Given the description of an element on the screen output the (x, y) to click on. 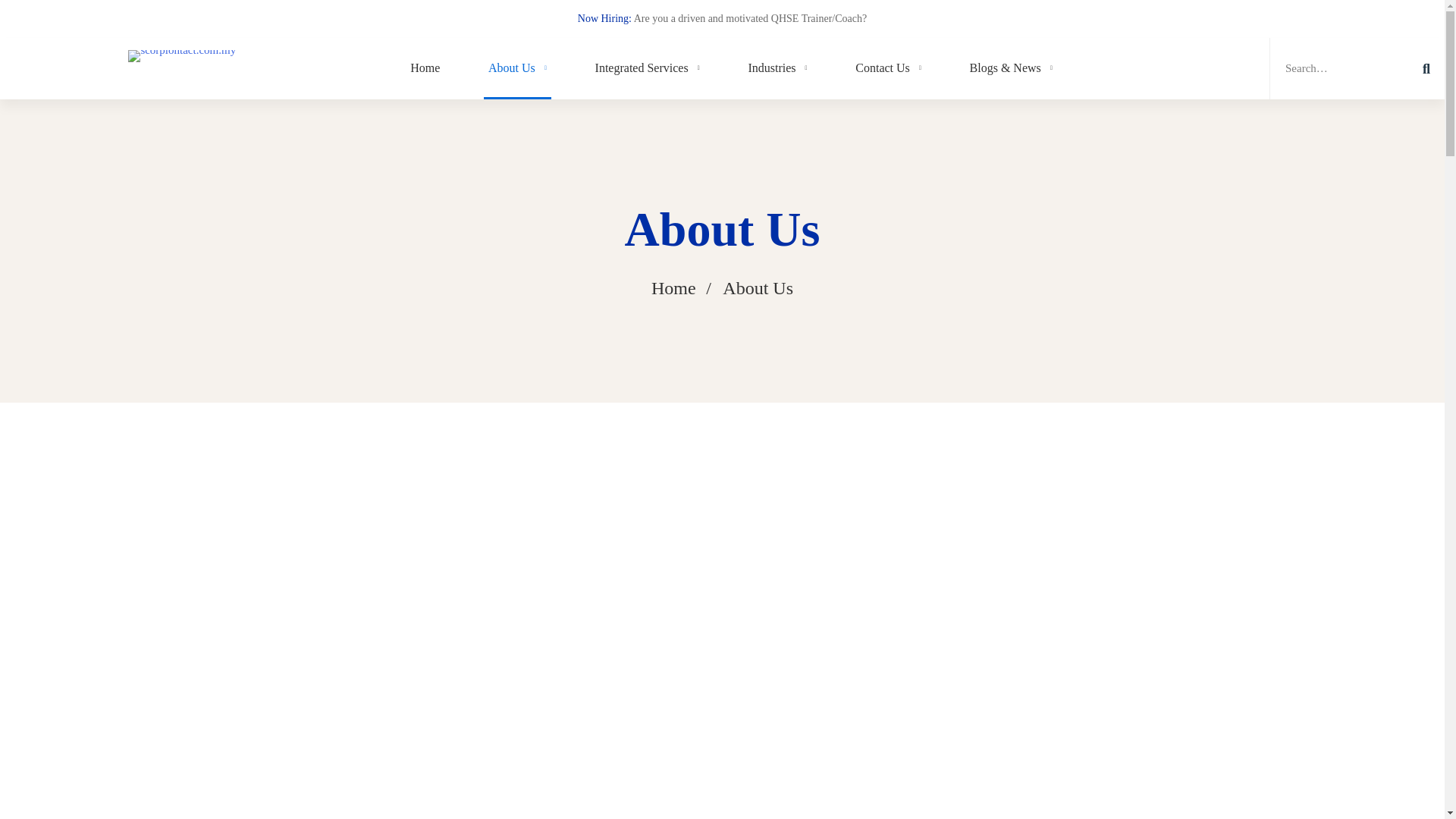
Integrated Services (647, 68)
Now Hiring: (604, 18)
Home (425, 68)
About Us (517, 68)
